Given the description of an element on the screen output the (x, y) to click on. 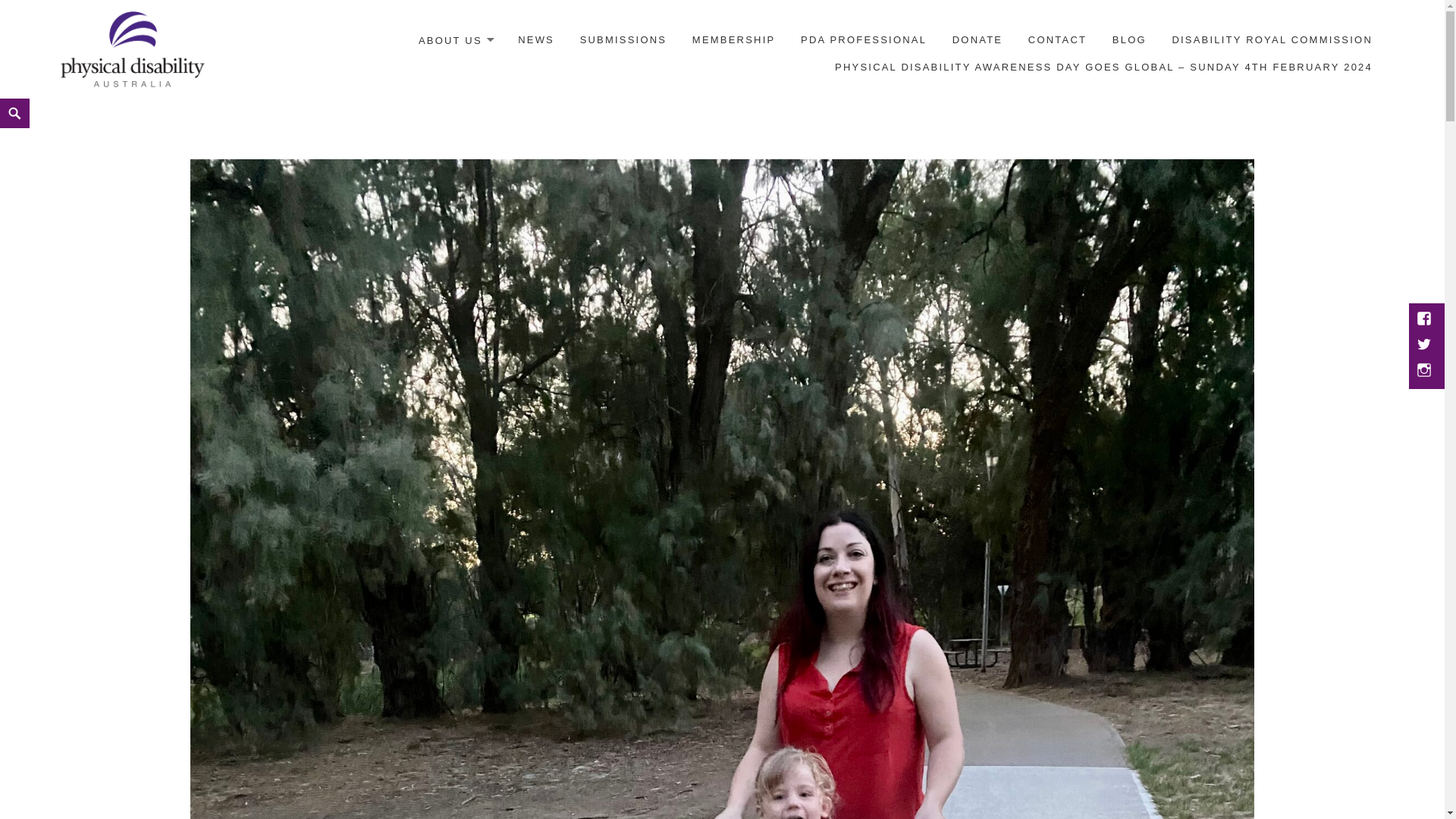
Instagram Element type: text (1425, 371)
ABOUT US Element type: text (455, 41)
NEWS Element type: text (535, 39)
CONTACT Element type: text (1057, 39)
BLOG Element type: text (1129, 39)
Physical Disability Australia Element type: hover (132, 48)
DISABILITY ROYAL COMMISSION Element type: text (1271, 39)
PDA PROFESSIONAL Element type: text (863, 39)
Search Element type: text (3, 97)
Facebook Element type: text (1425, 319)
Twitter Element type: text (1425, 345)
SUBMISSIONS Element type: text (623, 39)
DONATE Element type: text (977, 39)
MEMBERSHIP Element type: text (733, 39)
